Given the description of an element on the screen output the (x, y) to click on. 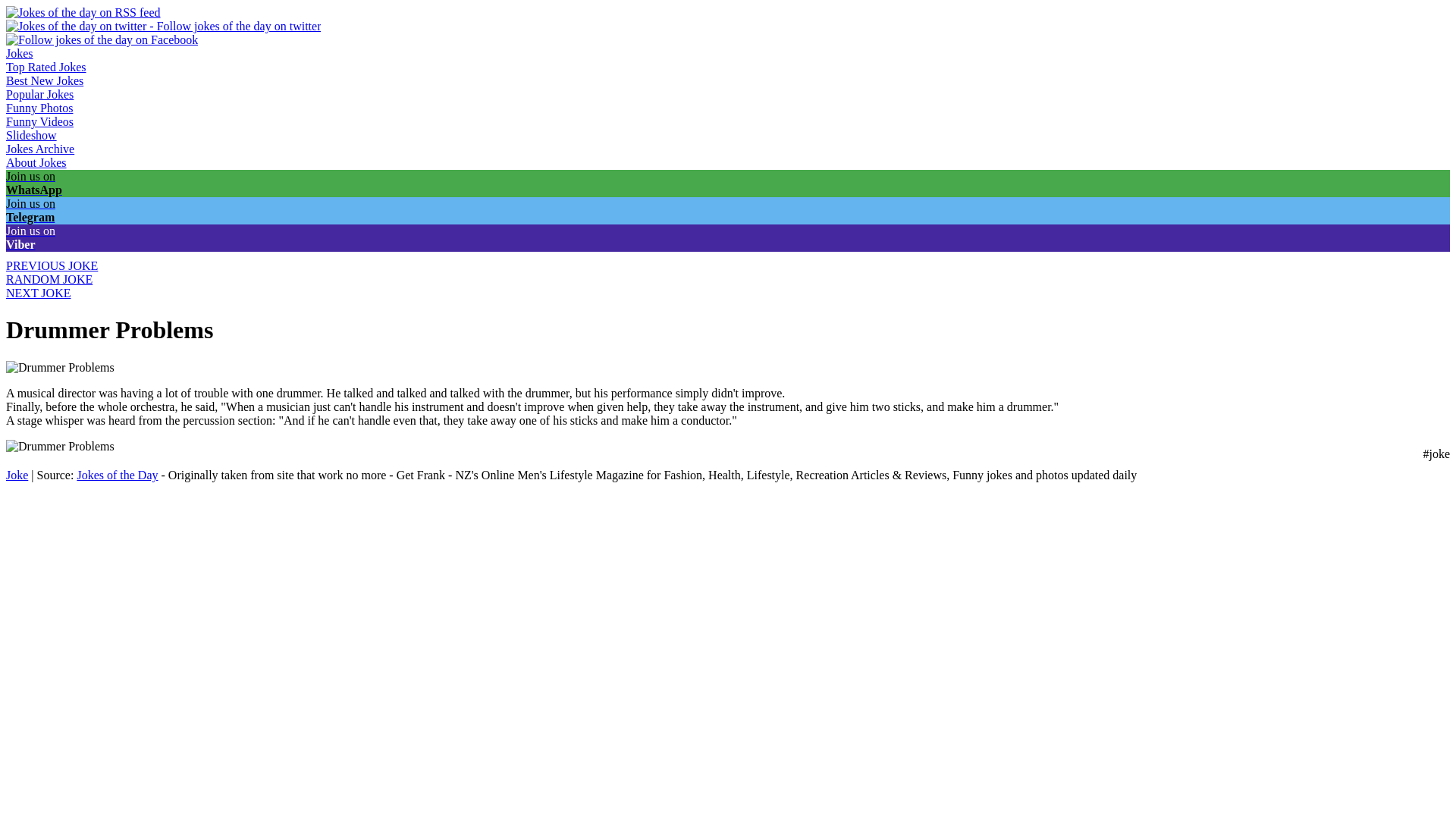
Follow jokes of the day on Facebook (101, 39)
Jokes (19, 52)
Funny Photos (38, 107)
Top Rated Jokes (45, 66)
Popular Jokes (39, 93)
The best jokes in the last 4 weeks (43, 80)
Popular Jokes (39, 93)
Jokes Archive (39, 148)
About Jokes (35, 162)
Slideshow (30, 134)
